Given the description of an element on the screen output the (x, y) to click on. 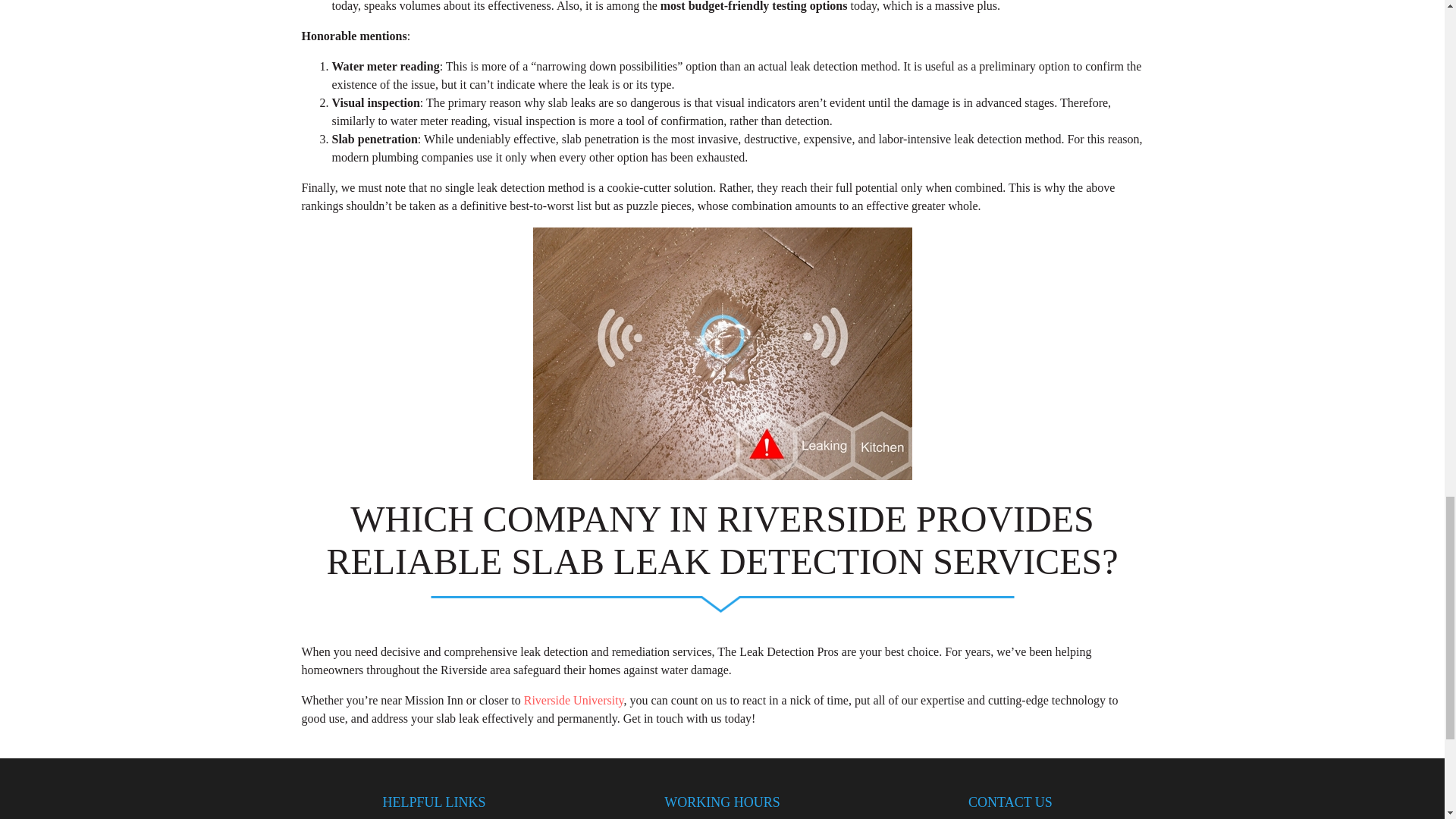
Riverside University (574, 699)
